Given the description of an element on the screen output the (x, y) to click on. 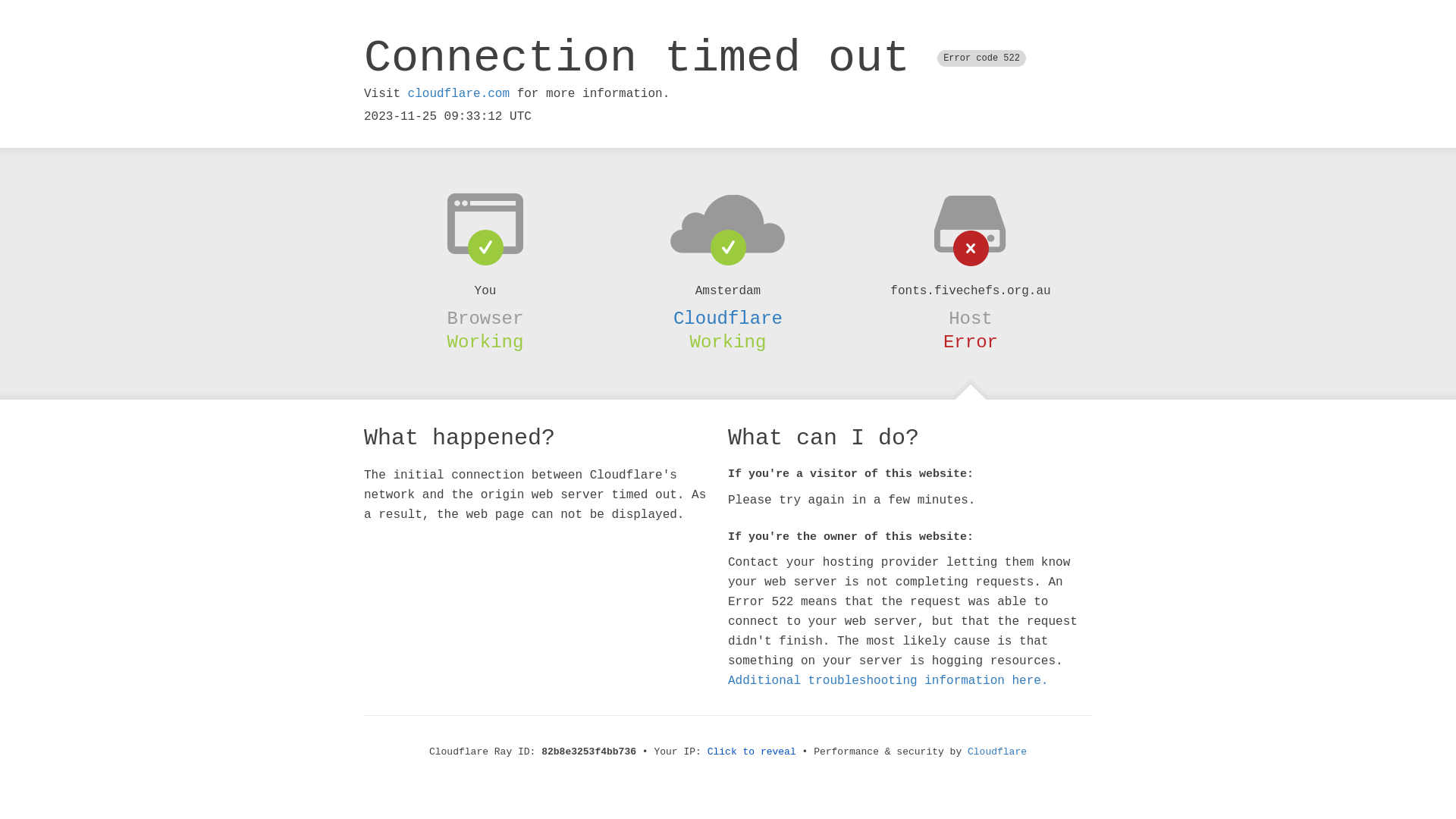
Additional troubleshooting information here. Element type: text (888, 680)
Cloudflare Element type: text (727, 318)
Click to reveal Element type: text (751, 751)
cloudflare.com Element type: text (458, 93)
Cloudflare Element type: text (996, 751)
